Given the description of an element on the screen output the (x, y) to click on. 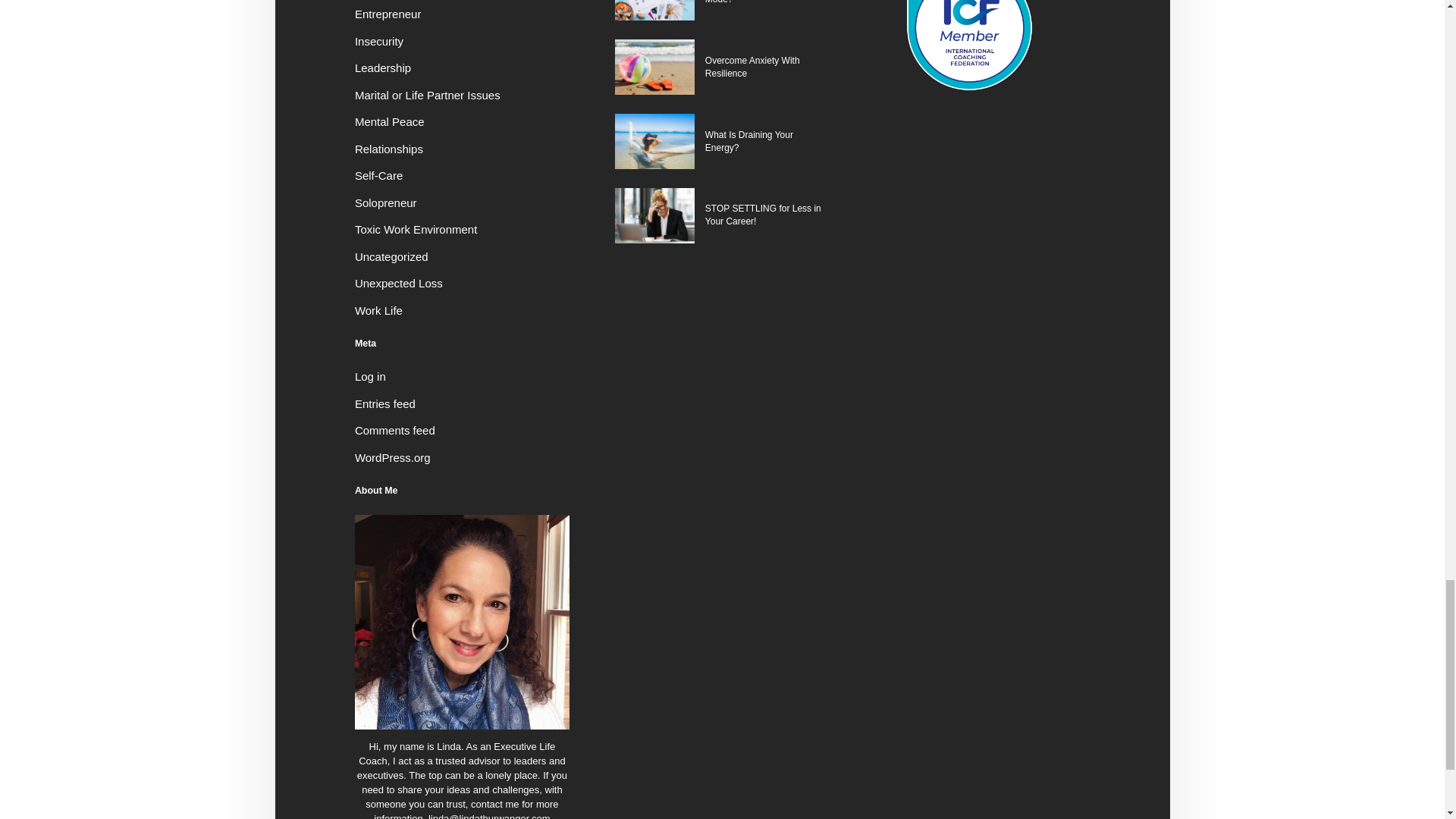
Insecurity (379, 41)
Leadership (382, 67)
Entrepreneur (388, 13)
